Given the description of an element on the screen output the (x, y) to click on. 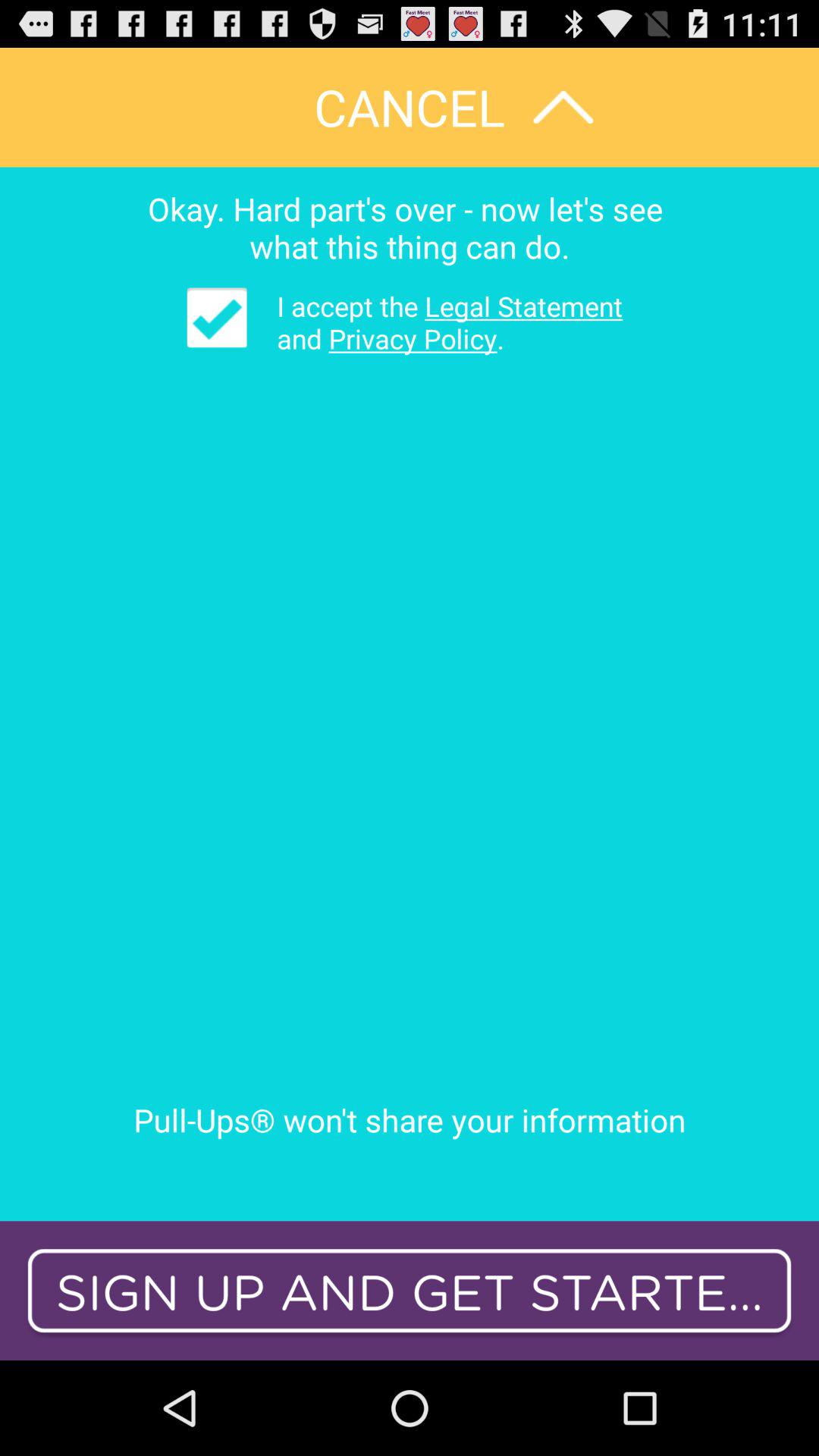
scroll to the i accept the icon (438, 322)
